Given the description of an element on the screen output the (x, y) to click on. 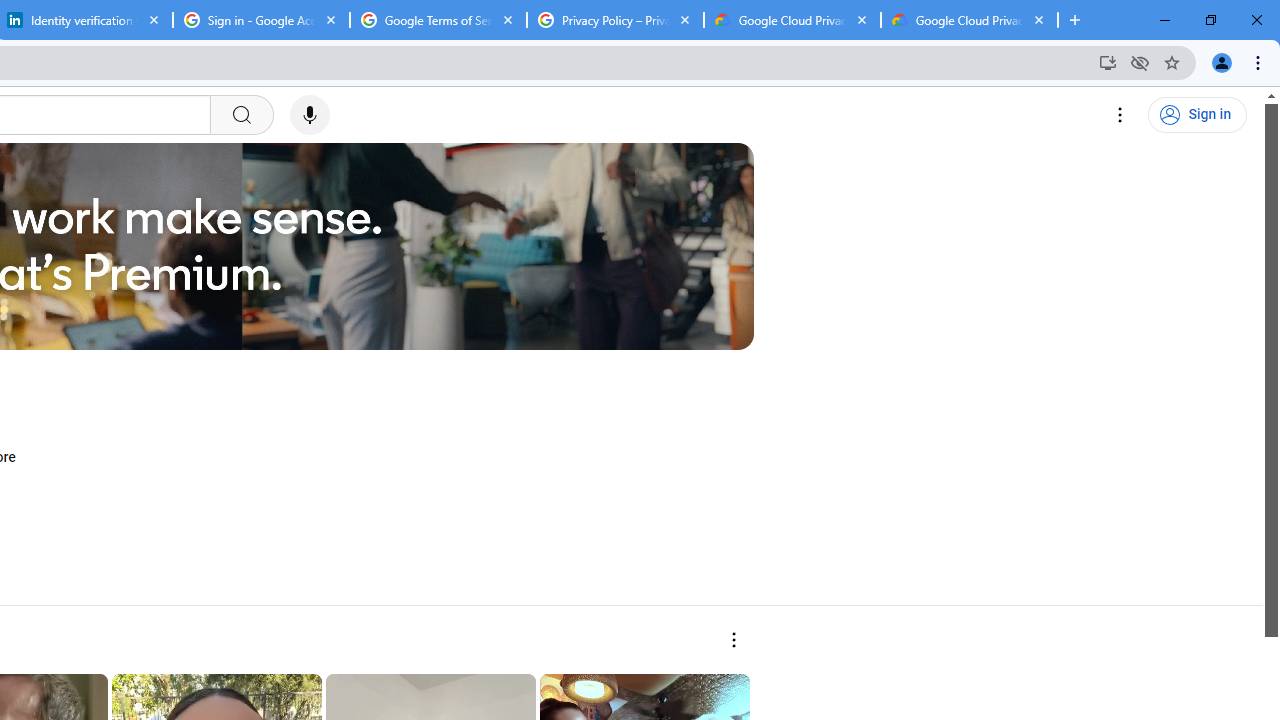
More actions (732, 639)
